Given the description of an element on the screen output the (x, y) to click on. 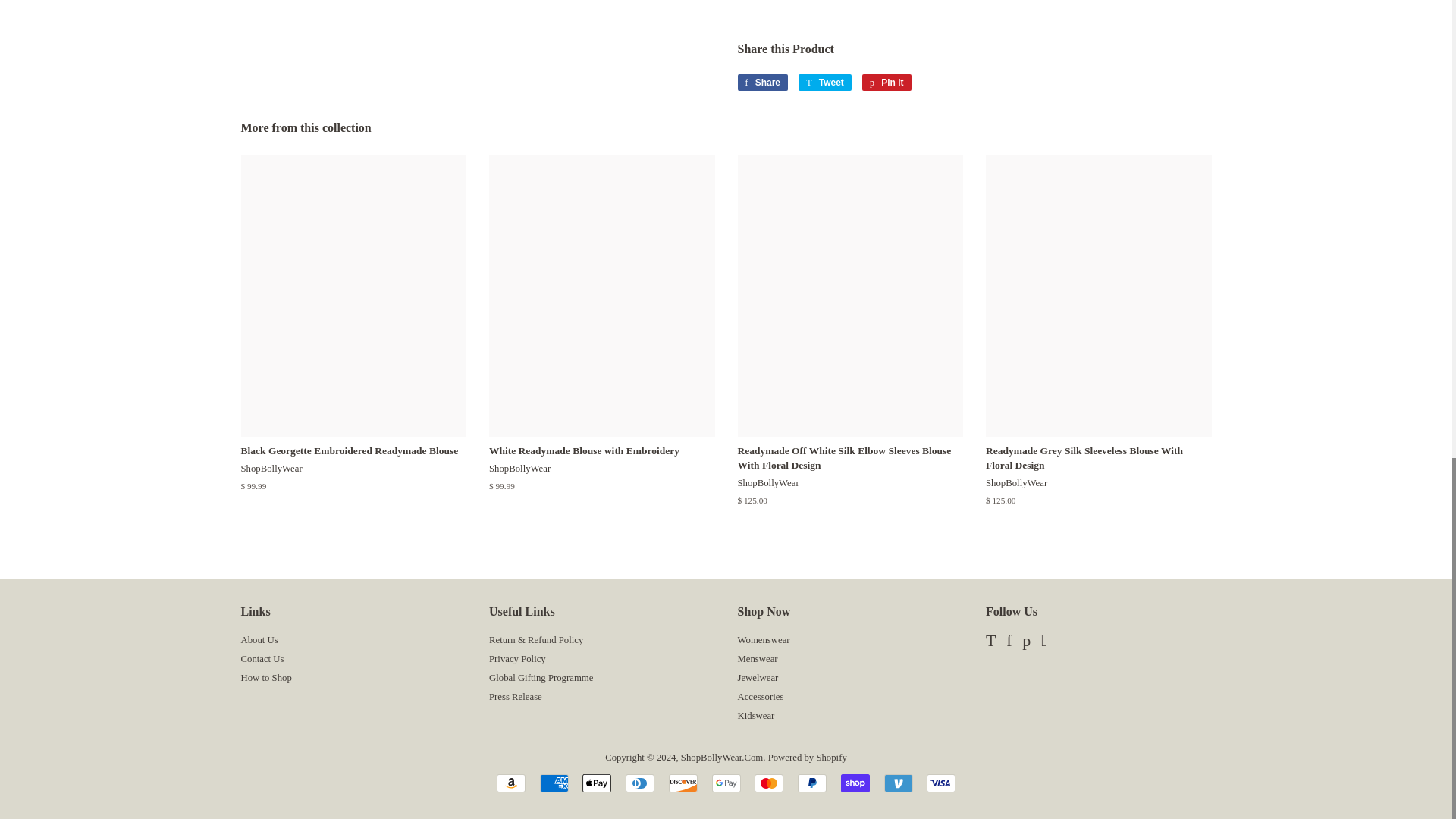
American Express (554, 782)
Amazon (510, 782)
Apple Pay (596, 782)
Shop Pay (855, 782)
Visa (940, 782)
Pin on Pinterest (886, 82)
Share on Facebook (761, 82)
Discover (682, 782)
Tweet on Twitter (824, 82)
PayPal (812, 782)
Venmo (897, 782)
Mastercard (768, 782)
Google Pay (725, 782)
Diners Club (639, 782)
ShopBollyWear.Com on Twitter (990, 643)
